Given the description of an element on the screen output the (x, y) to click on. 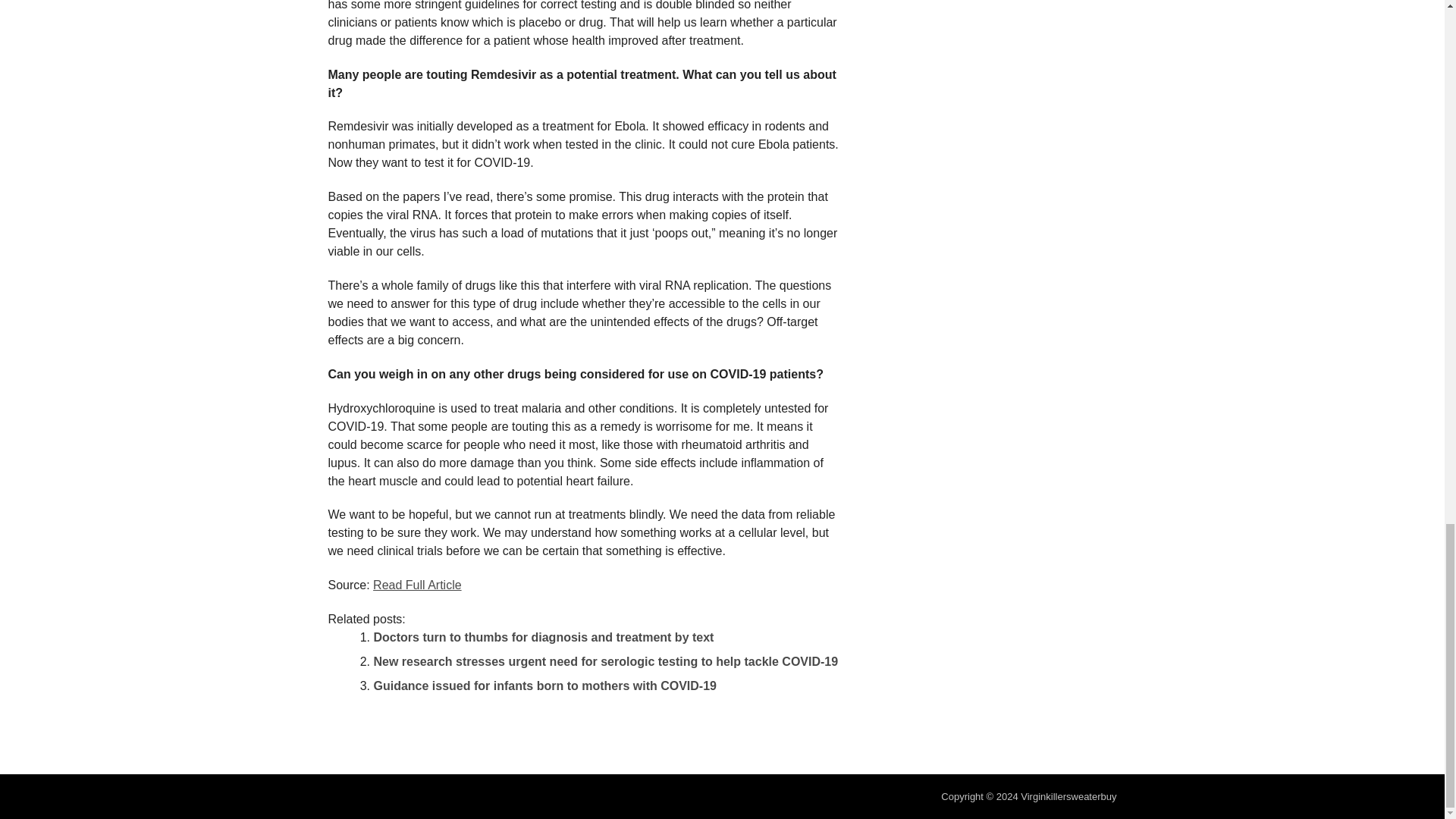
Read Full Article (416, 584)
Doctors turn to thumbs for diagnosis and treatment by text (542, 636)
Doctors turn to thumbs for diagnosis and treatment by text (542, 636)
Guidance issued for infants born to mothers with COVID-19 (544, 685)
Guidance issued for infants born to mothers with COVID-19 (544, 685)
